Given the description of an element on the screen output the (x, y) to click on. 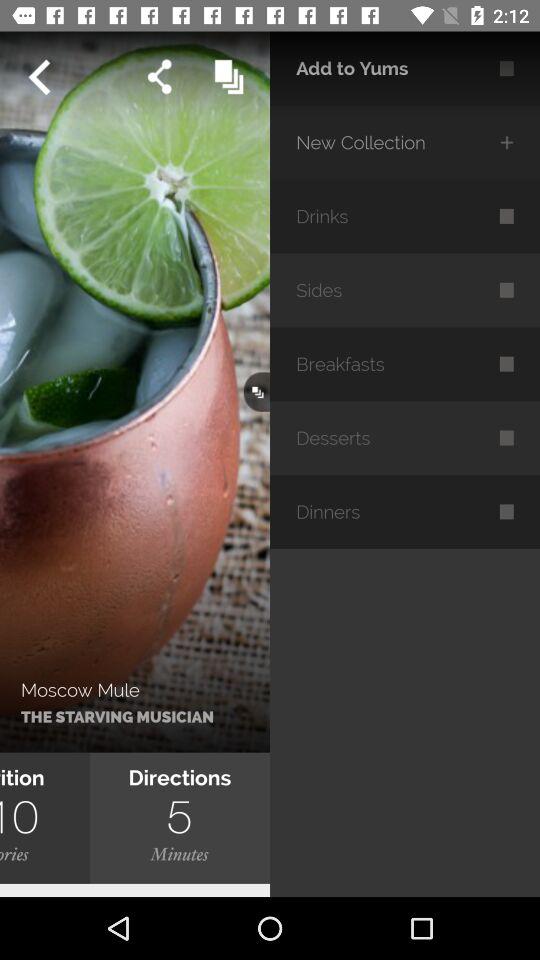
share the article (159, 76)
